Given the description of an element on the screen output the (x, y) to click on. 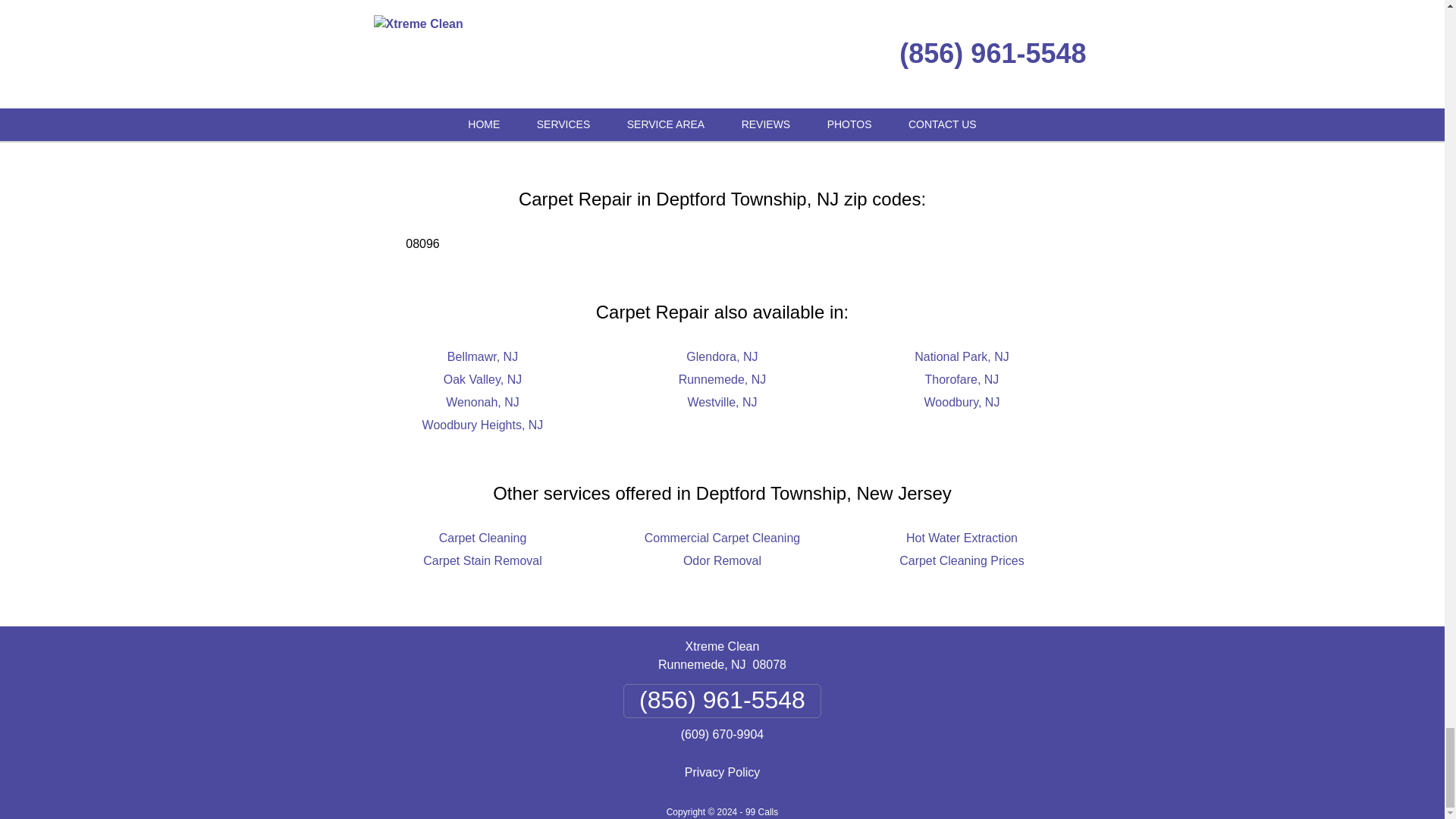
National Park, NJ (961, 356)
Oak Valley, NJ (482, 379)
Woodbury Heights, NJ (482, 424)
Hot Water Extraction (961, 537)
Carpet Stain Removal (482, 560)
Carpet Cleaning (483, 537)
Bellmawr, NJ (482, 356)
Wenonah, NJ (482, 401)
Thorofare, NJ (961, 379)
Houzz (846, 104)
Yelp (776, 104)
Glendora, NJ (721, 356)
Facebook (610, 104)
Westville, NJ (722, 401)
Commercial Carpet Cleaning (722, 537)
